Given the description of an element on the screen output the (x, y) to click on. 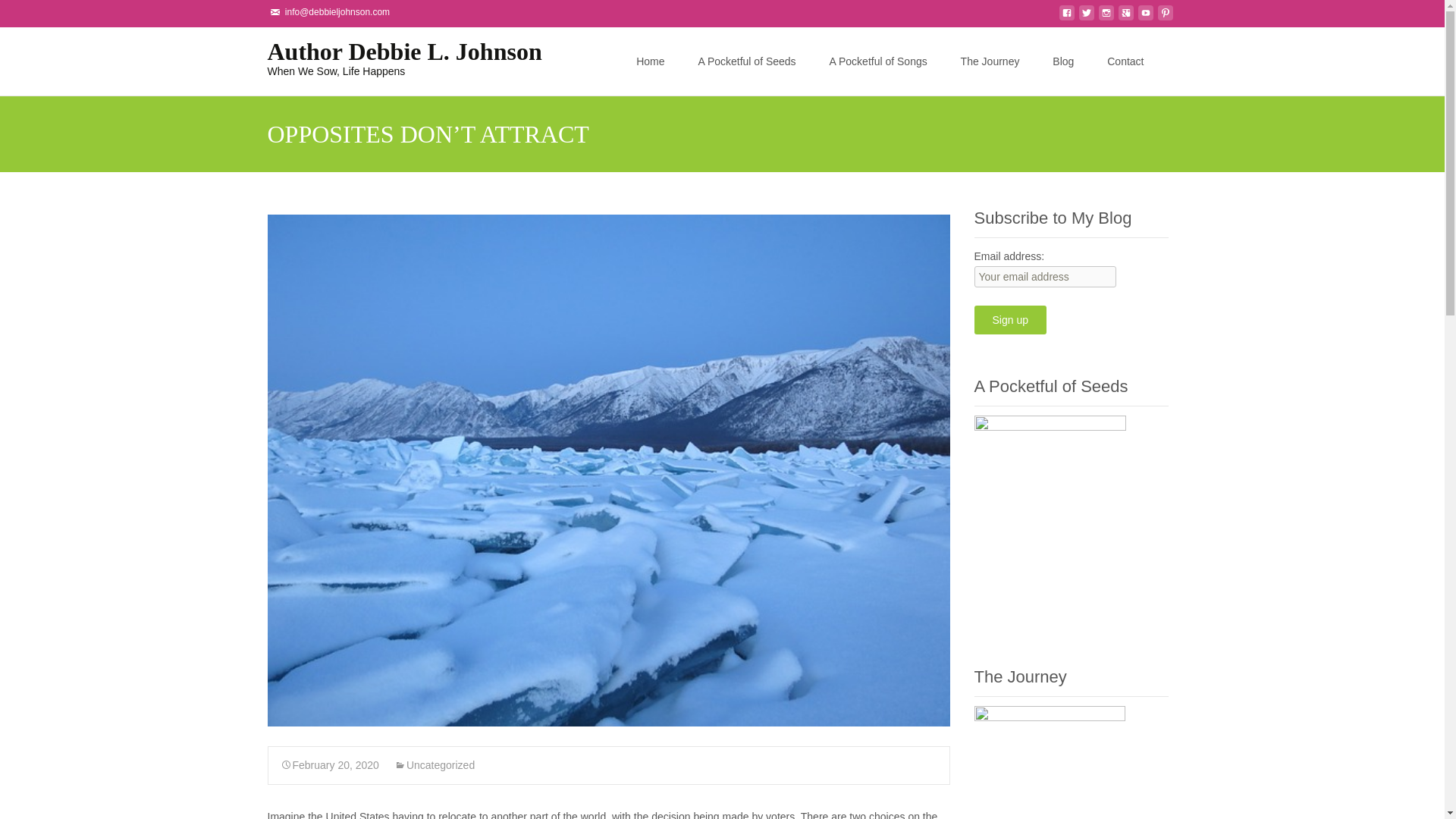
Blog (1063, 61)
twitter (1085, 17)
youtube (1145, 17)
instagram (1105, 17)
The Journey (990, 61)
Sign up (1009, 319)
Search (18, 14)
Search for: (1163, 62)
pinterest (1164, 17)
A Pocketful of Songs (878, 61)
googleplus (1125, 17)
Home (649, 61)
Uncategorized (434, 765)
Sign up (1009, 319)
